Given the description of an element on the screen output the (x, y) to click on. 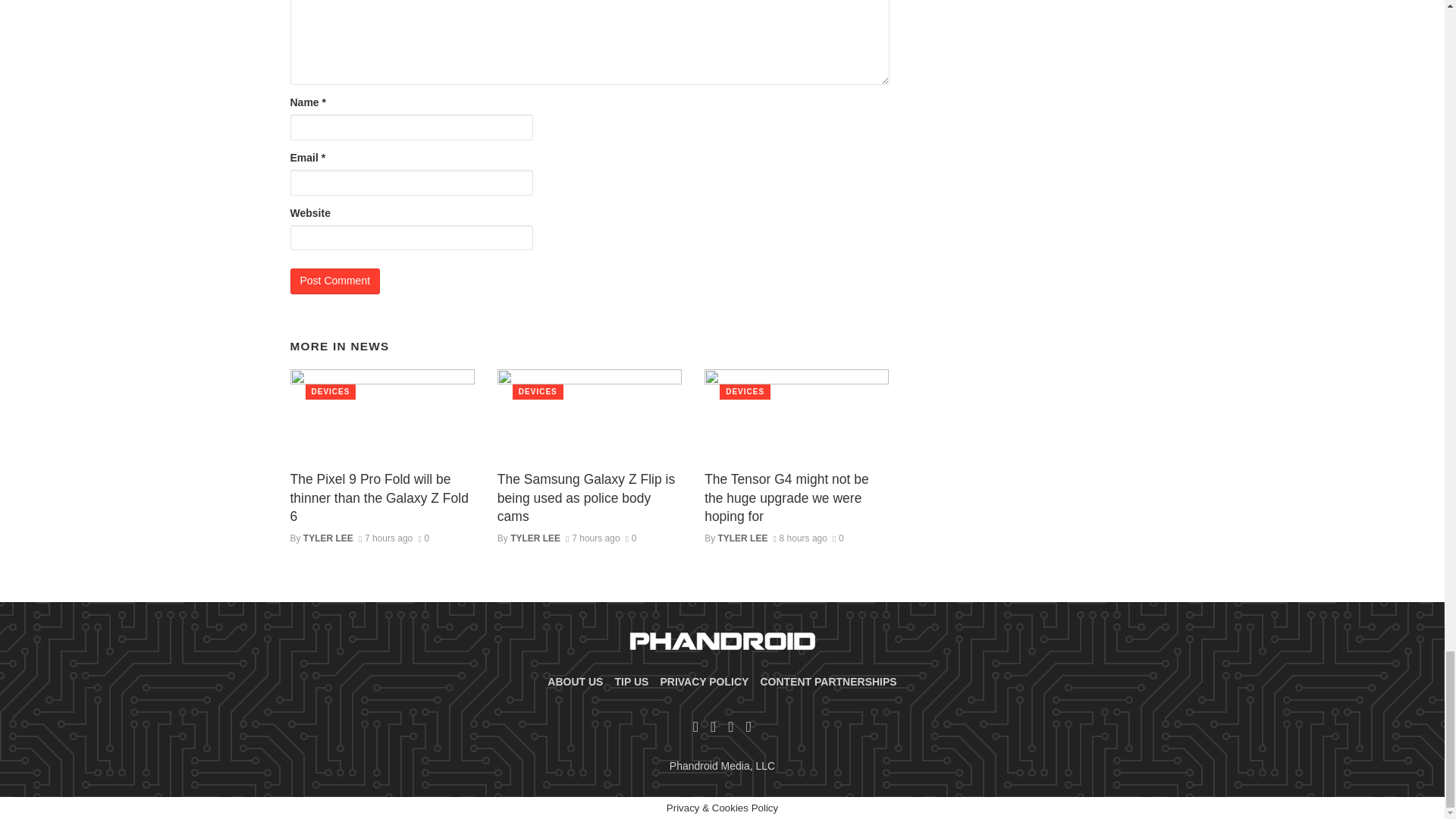
Post Comment (334, 281)
